Given the description of an element on the screen output the (x, y) to click on. 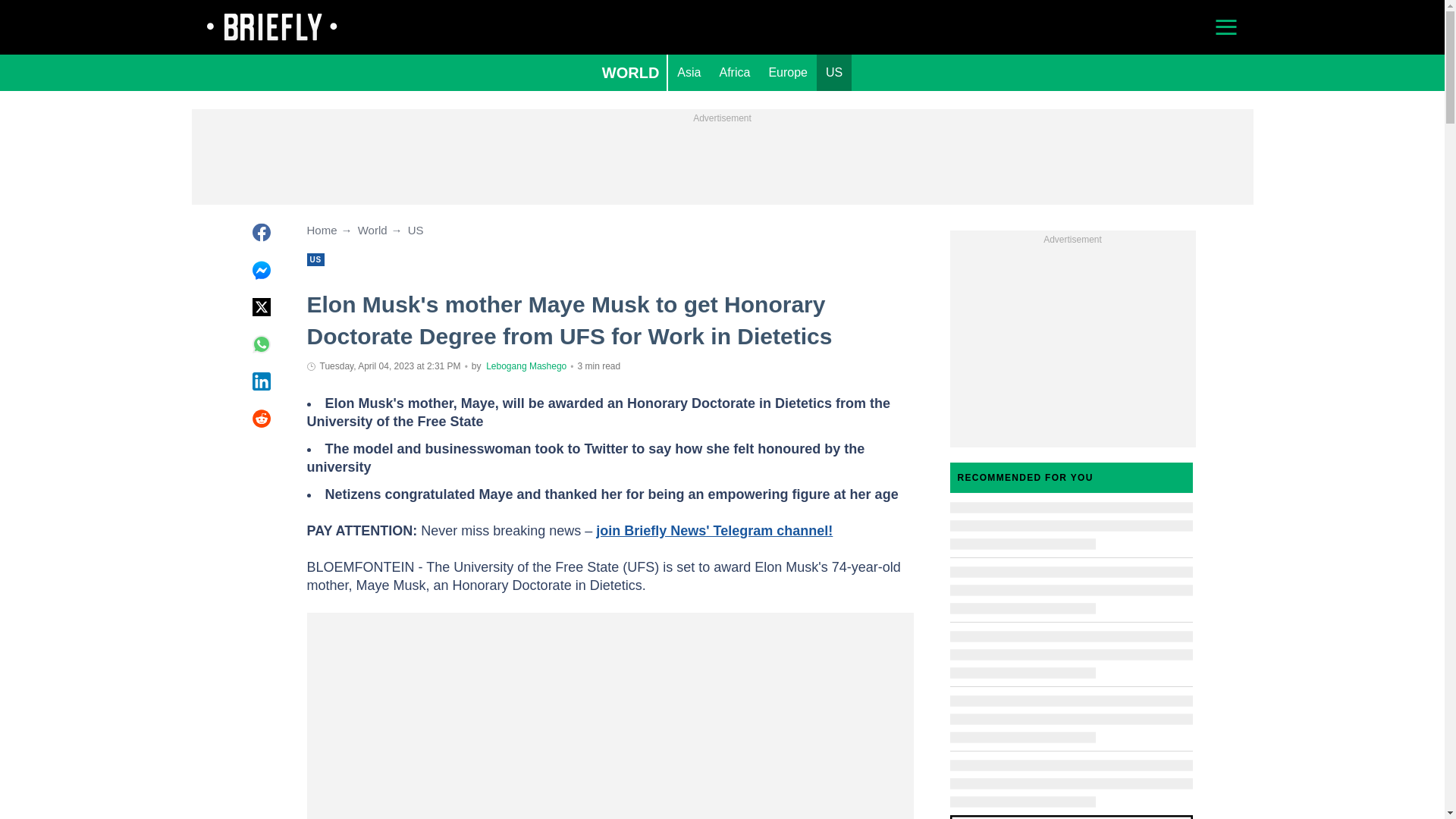
WORLD (630, 72)
Africa (734, 72)
Asia (689, 72)
Europe (787, 72)
US (833, 72)
Author page (526, 366)
